Given the description of an element on the screen output the (x, y) to click on. 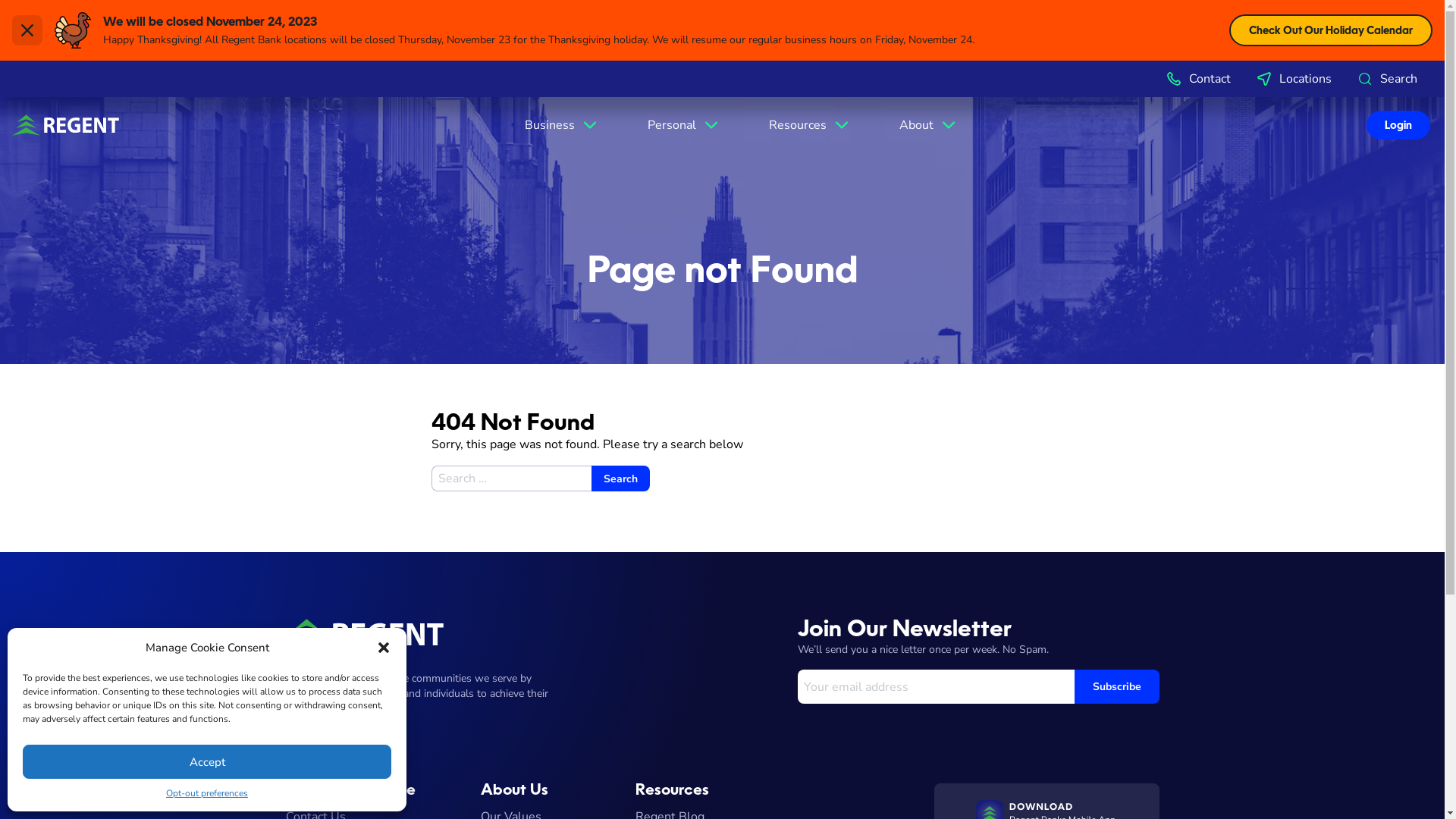
Search Element type: text (620, 478)
Opt-out preferences Element type: text (206, 793)
Resources Element type: text (809, 125)
Locations Element type: text (1292, 78)
Accept Element type: text (206, 761)
Close this alert bar Element type: text (27, 30)
Login Element type: text (1398, 124)
Personal Element type: text (683, 125)
About Element type: text (928, 125)
Login Element type: text (501, 403)
Contact Element type: text (1197, 78)
Business Element type: text (561, 125)
Search Element type: text (1386, 78)
Check Out Our Holiday Calendar Element type: text (1330, 30)
Subscribe Element type: text (1115, 686)
